Given the description of an element on the screen output the (x, y) to click on. 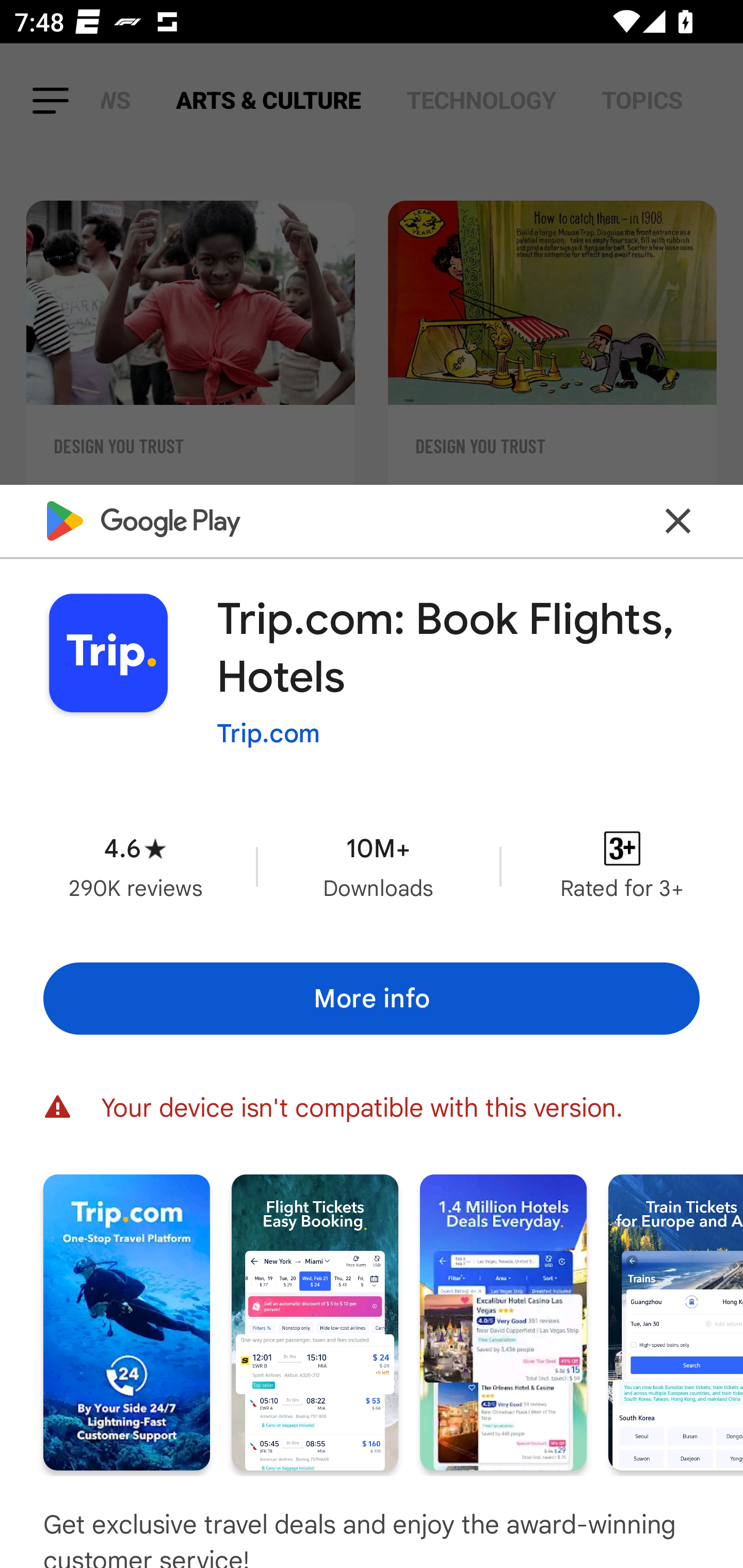
Close (677, 520)
Trip.com (268, 732)
More info (371, 998)
Screenshot "1" of "8" (126, 1322)
Screenshot "2" of "8" (314, 1322)
Screenshot "3" of "8" (502, 1322)
Screenshot "4" of "8" (675, 1322)
